Given the description of an element on the screen output the (x, y) to click on. 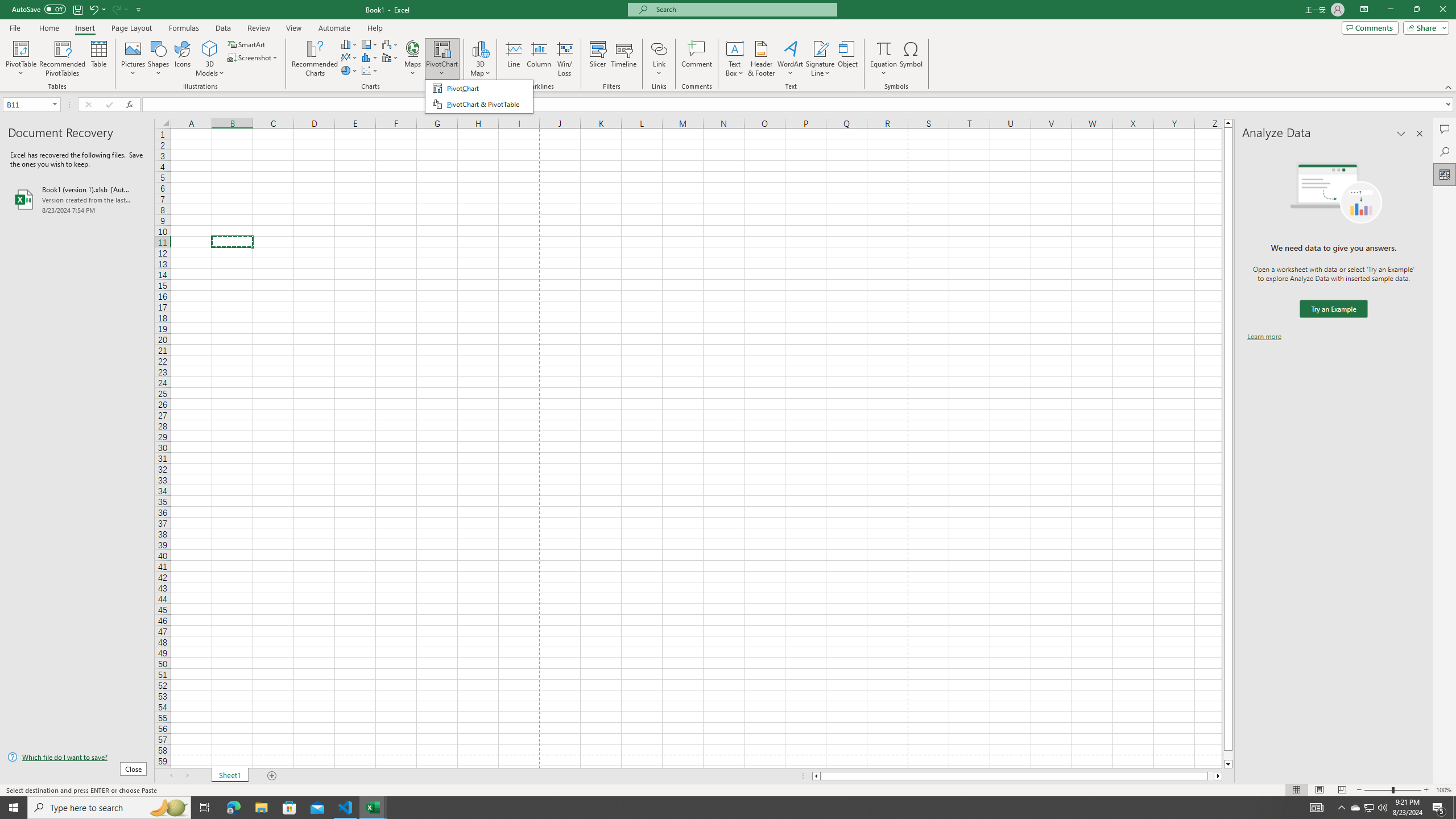
Insert Combo Chart (390, 56)
Pivot&Chart (478, 96)
Save (1368, 807)
Table (77, 9)
Notification Chevron (98, 58)
PivotChart (1341, 807)
User Promoted Notification Area (442, 58)
Insert Hierarchy Chart (1368, 807)
PivotChart (369, 44)
Column left (442, 48)
Customize Quick Access Toolbar (1355, 807)
